Given the description of an element on the screen output the (x, y) to click on. 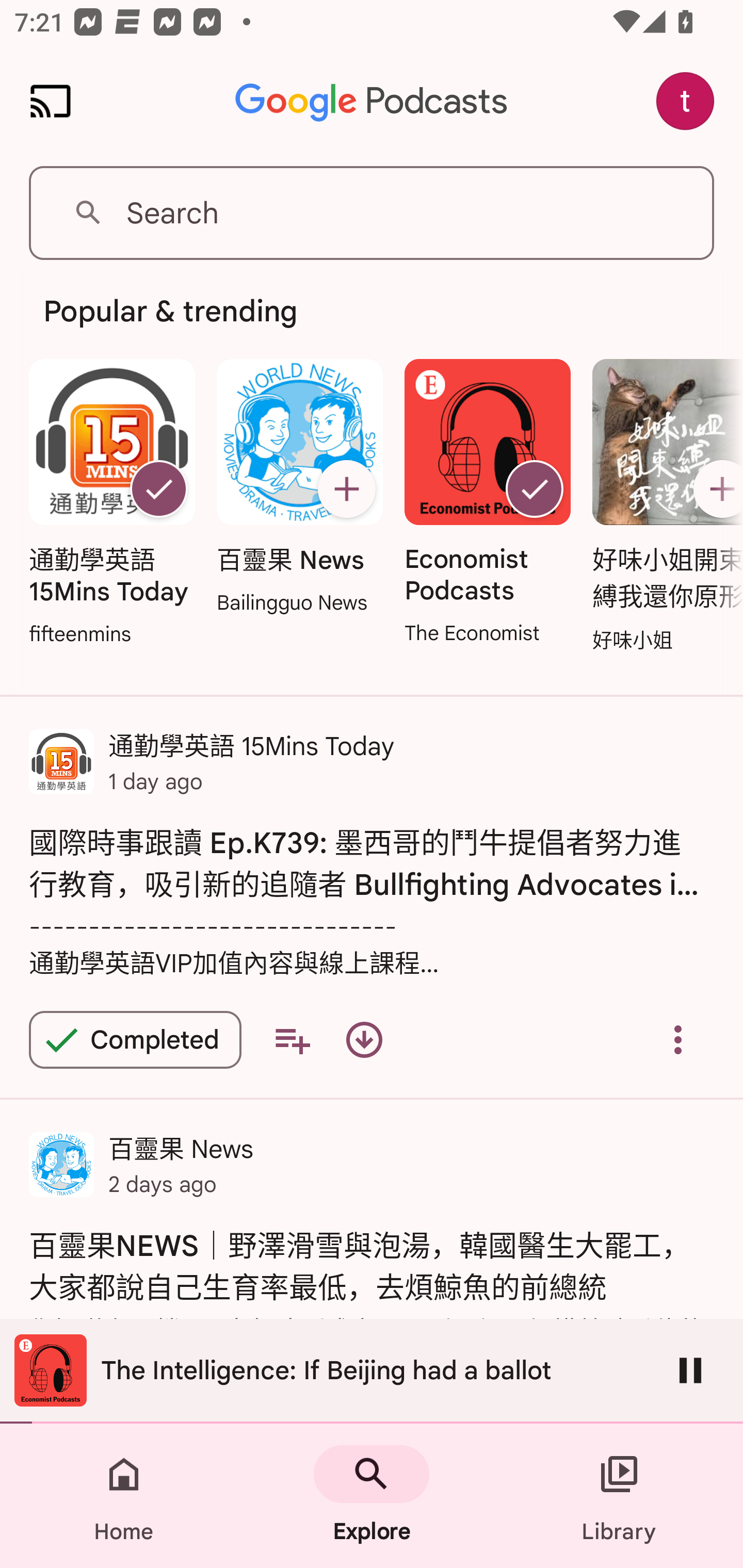
Cast. Disconnected (50, 101)
Search (371, 212)
百靈果 News Subscribe 百靈果 News Bailingguo News (299, 488)
好味小姐開束縛我還你原形 Subscribe 好味小姐開束縛我還你原形 好味小姐 (662, 507)
Unsubscribe (158, 489)
Subscribe (346, 489)
Unsubscribe (534, 489)
Subscribe (714, 489)
Add to your queue (291, 1040)
Download episode (364, 1040)
Overflow menu (677, 1040)
Pause (690, 1370)
Home (123, 1495)
Library (619, 1495)
